Given the description of an element on the screen output the (x, y) to click on. 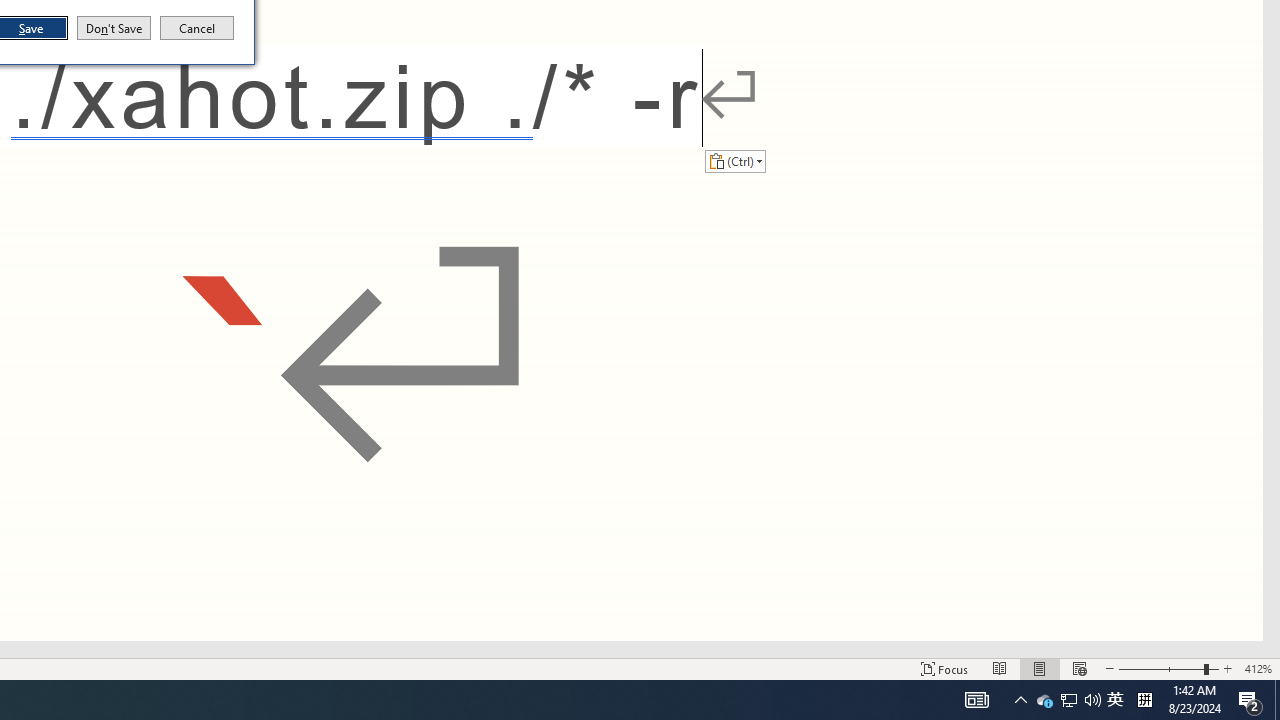
Q2790: 100% (1092, 699)
Action Center, 2 new notifications (1250, 699)
AutomationID: 4105 (976, 699)
Action: Paste alternatives (735, 160)
User Promoted Notification Area (1068, 699)
